Given the description of an element on the screen output the (x, y) to click on. 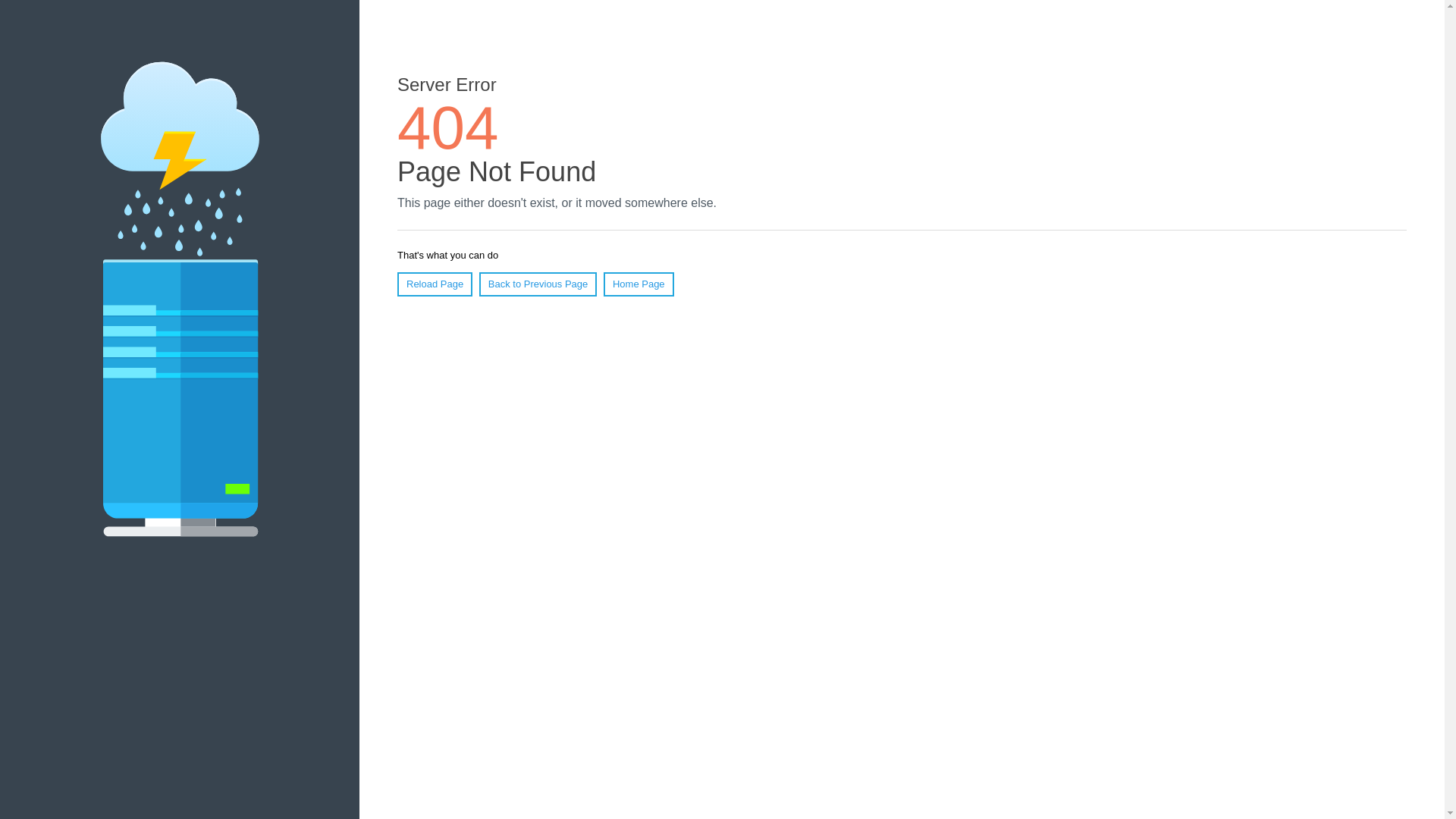
Back to Previous Page Element type: text (538, 284)
Home Page Element type: text (638, 284)
Reload Page Element type: text (434, 284)
